Given the description of an element on the screen output the (x, y) to click on. 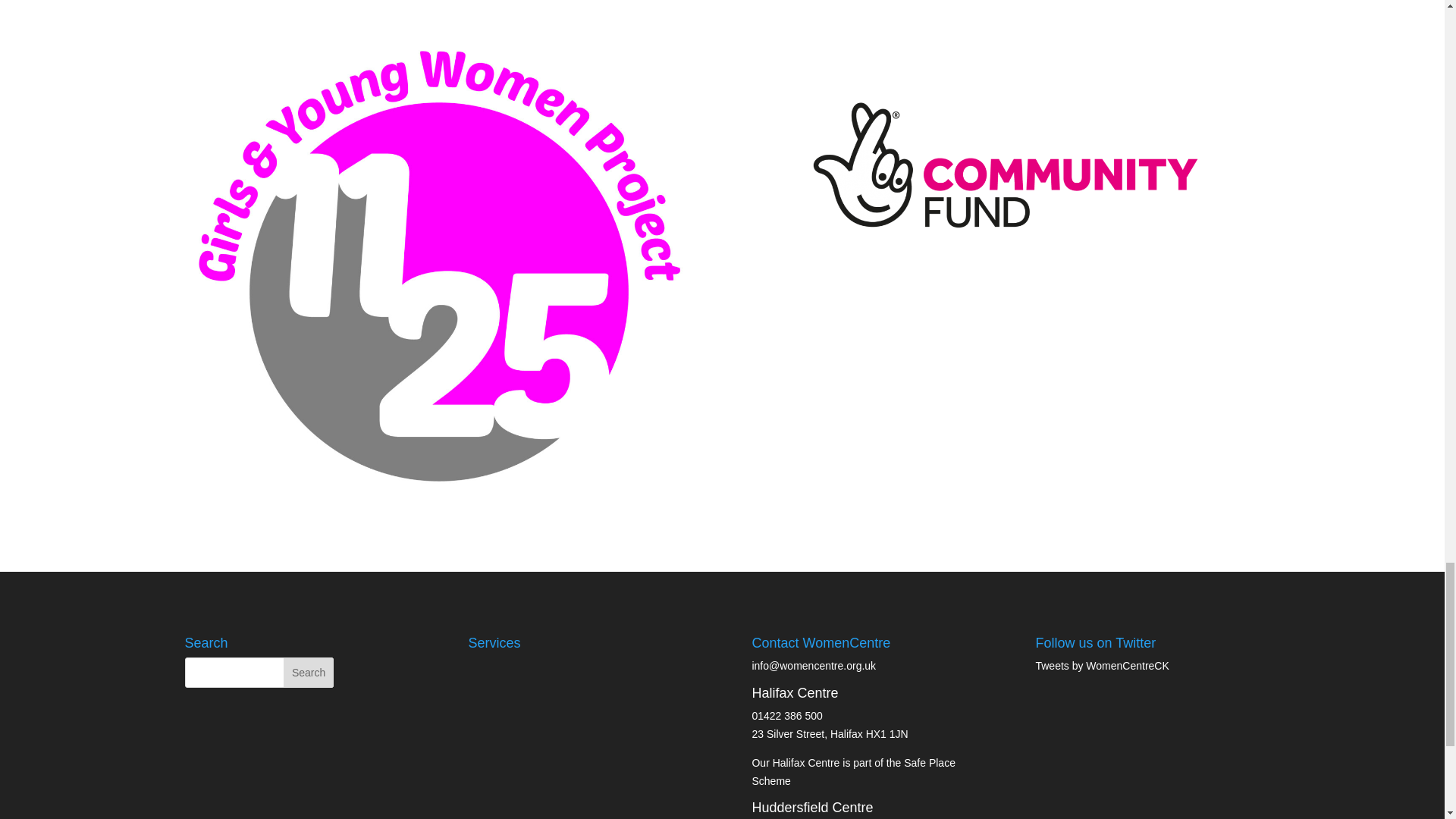
The-National-Lottery-Community-Fund (1005, 164)
Search (308, 672)
